Given the description of an element on the screen output the (x, y) to click on. 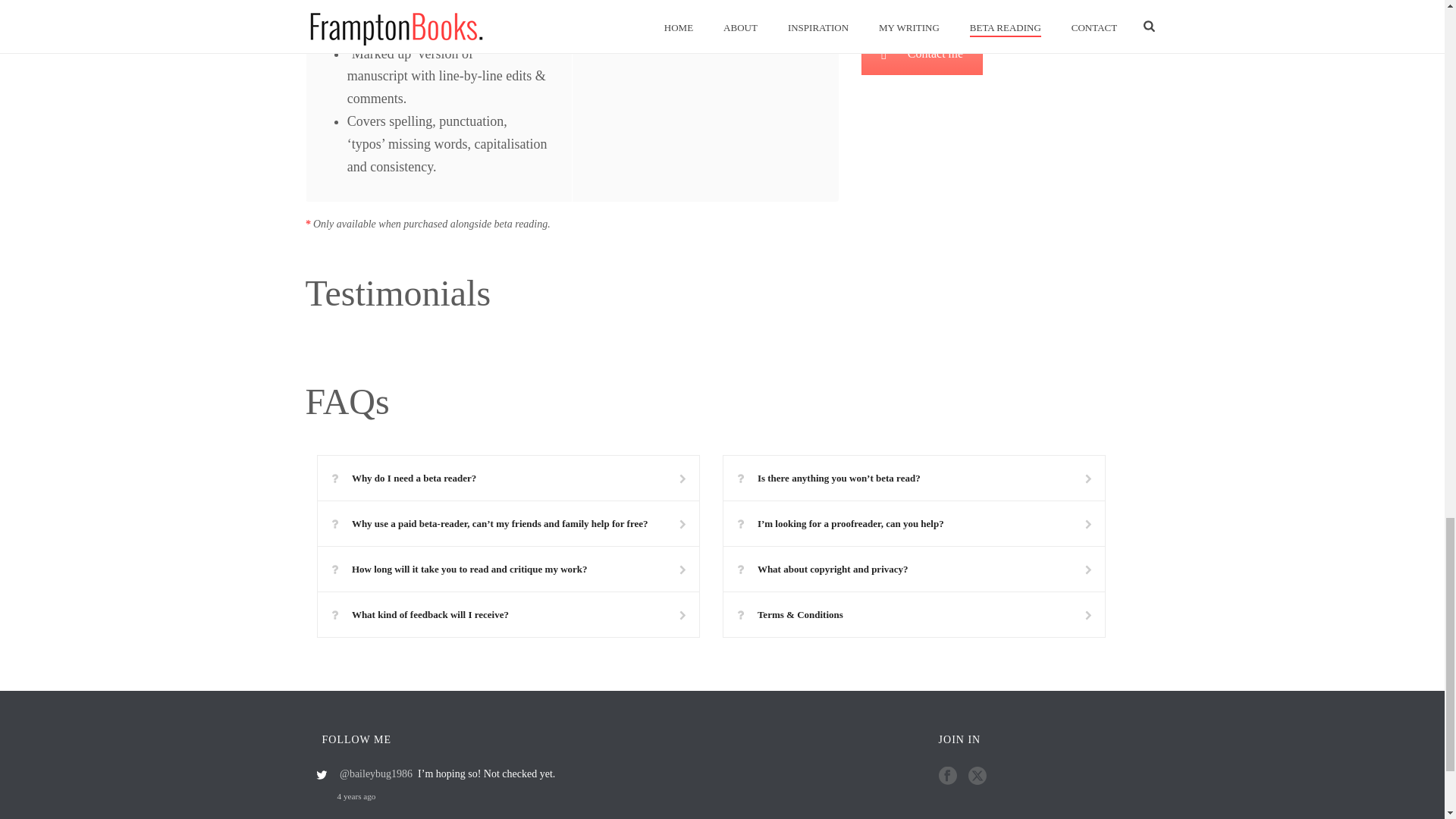
 facebook (947, 776)
4 years ago (520, 796)
Contact me (921, 53)
